Given the description of an element on the screen output the (x, y) to click on. 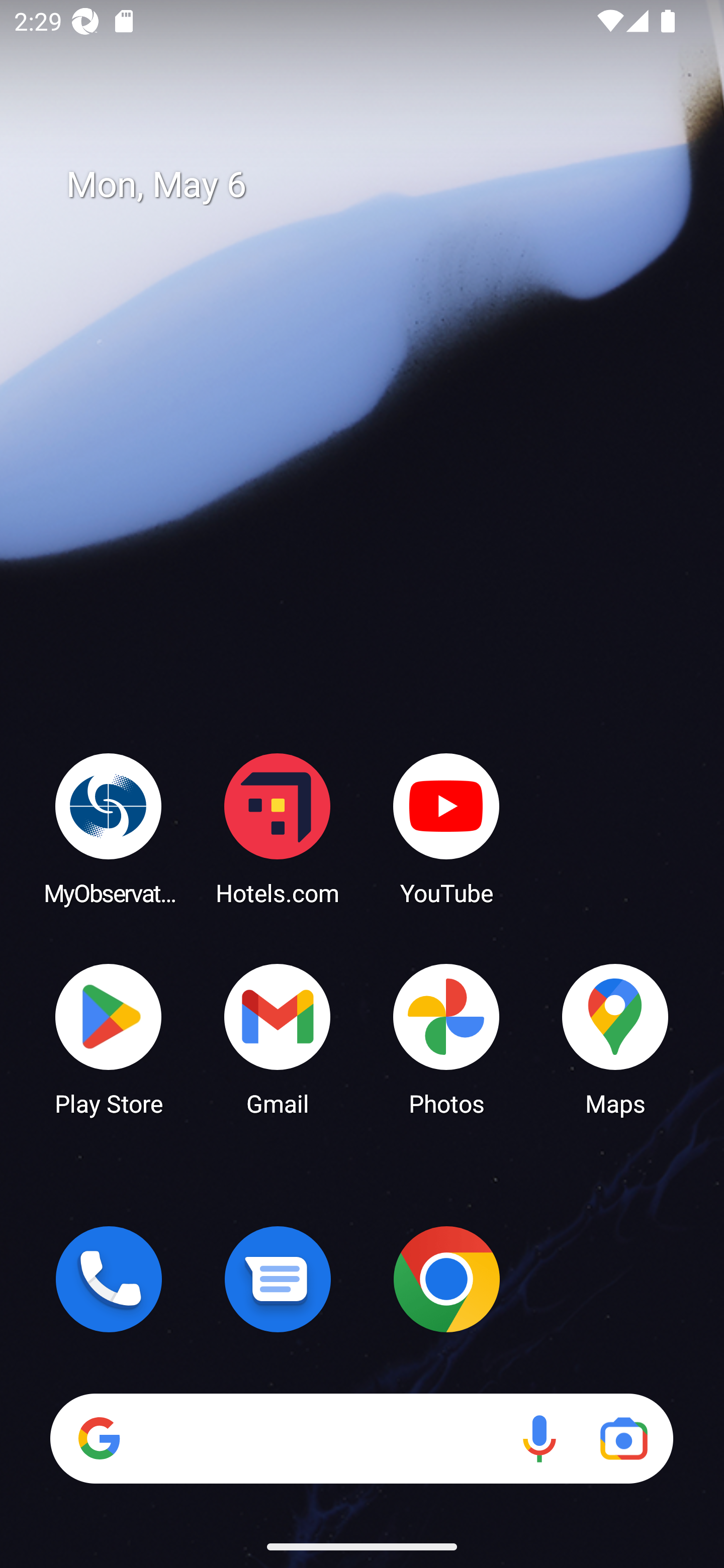
Mon, May 6 (375, 184)
MyObservatory (108, 828)
Hotels.com (277, 828)
YouTube (445, 828)
Play Store (108, 1038)
Gmail (277, 1038)
Photos (445, 1038)
Maps (615, 1038)
Phone (108, 1279)
Messages (277, 1279)
Chrome (446, 1279)
Search Voice search Google Lens (361, 1438)
Voice search (539, 1438)
Google Lens (623, 1438)
